Given the description of an element on the screen output the (x, y) to click on. 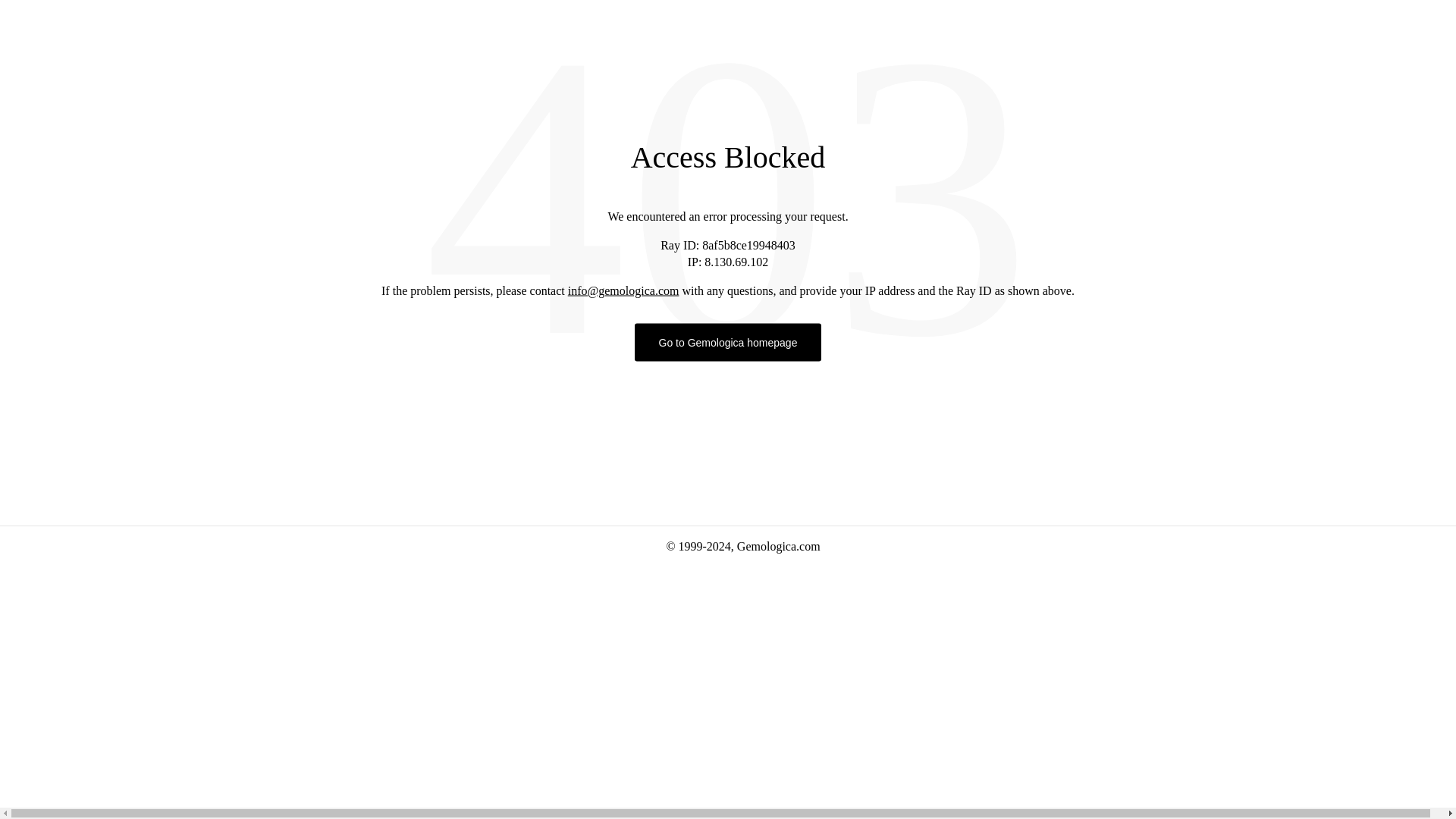
Go to Gemologica homepage (728, 341)
Go to Gemologica homepage (728, 341)
